Given the description of an element on the screen output the (x, y) to click on. 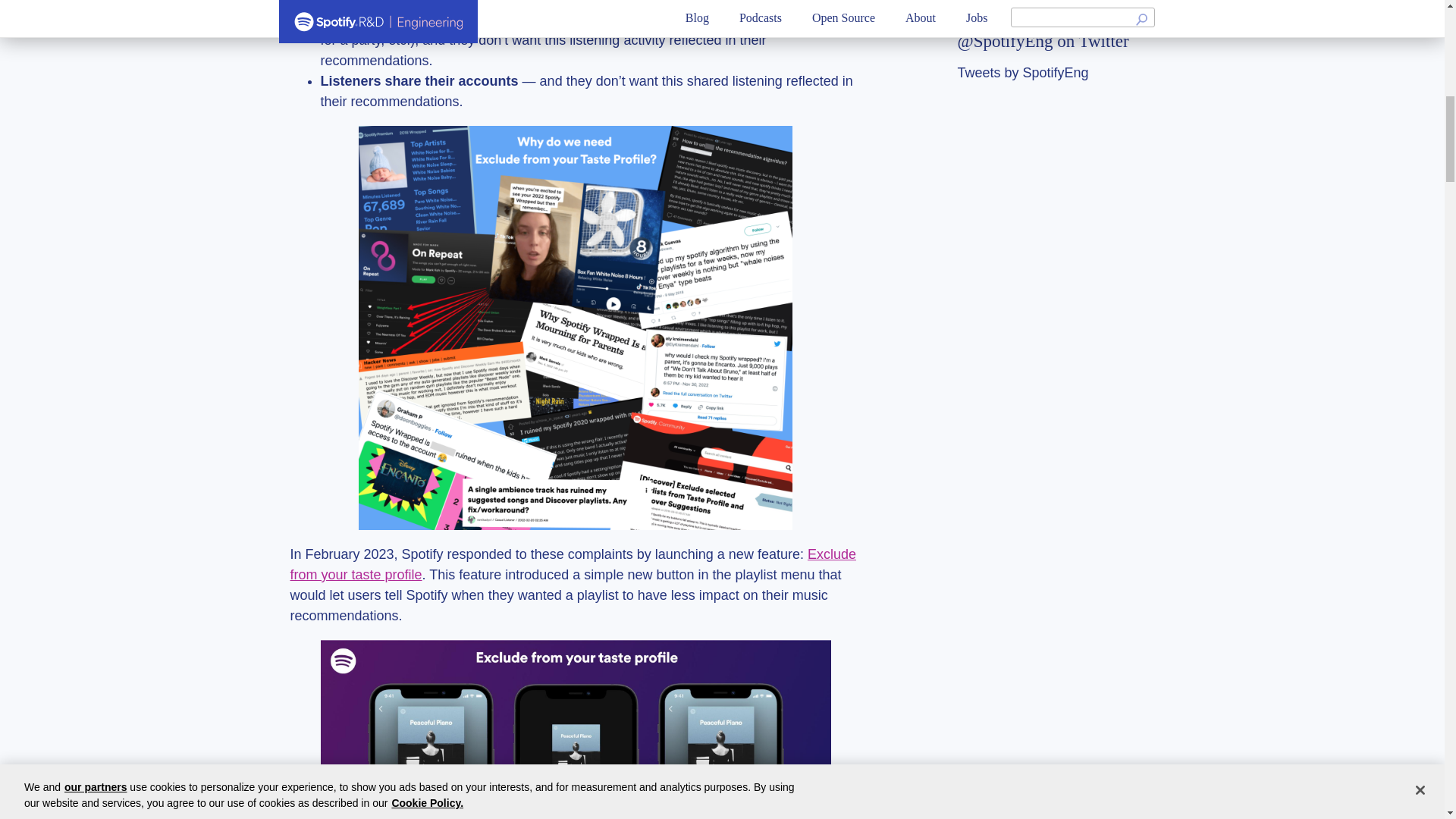
Tweets by SpotifyEng (1055, 73)
Exclude from your taste profile (572, 564)
